Given the description of an element on the screen output the (x, y) to click on. 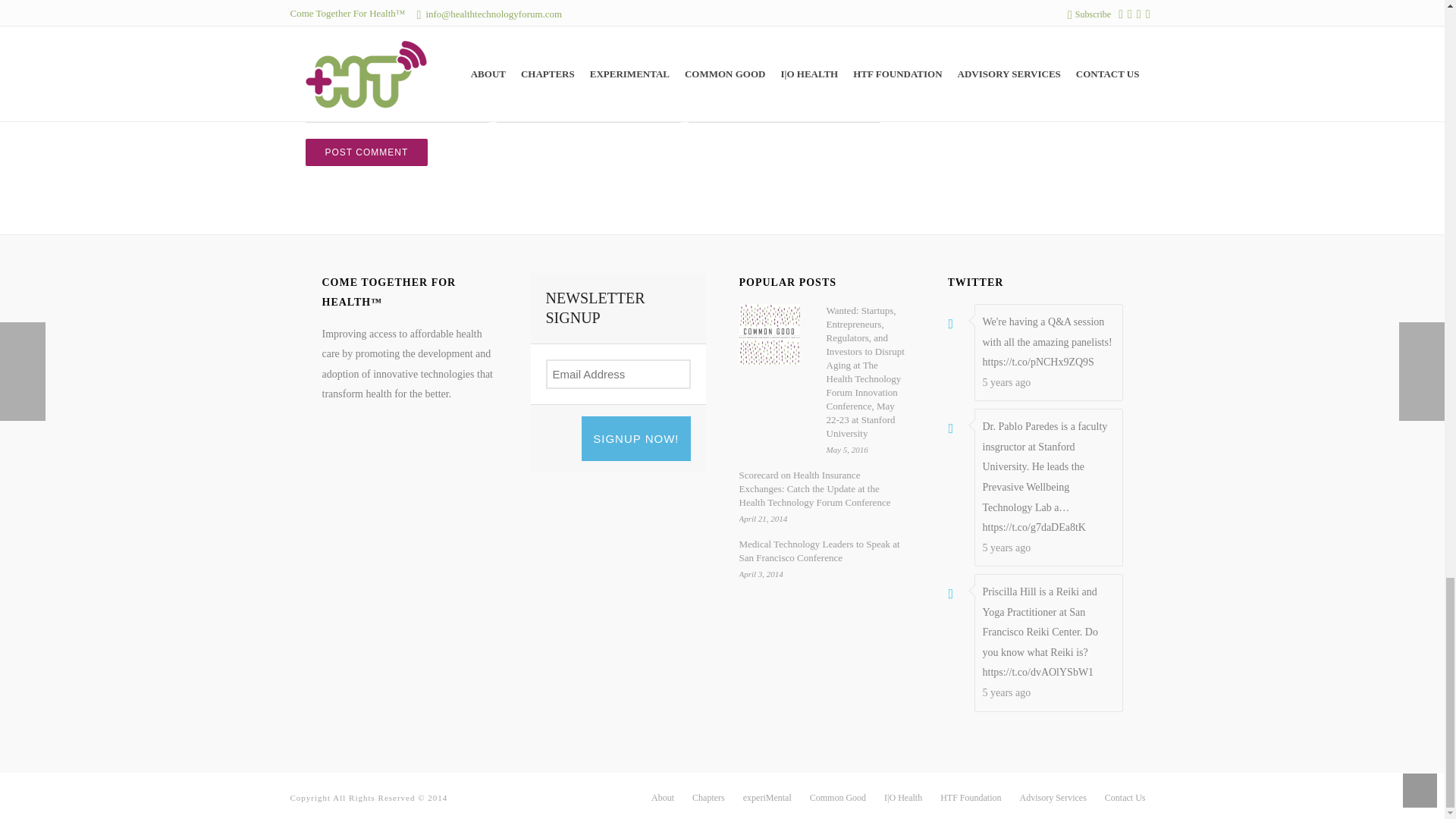
POST COMMENT (366, 152)
